Given the description of an element on the screen output the (x, y) to click on. 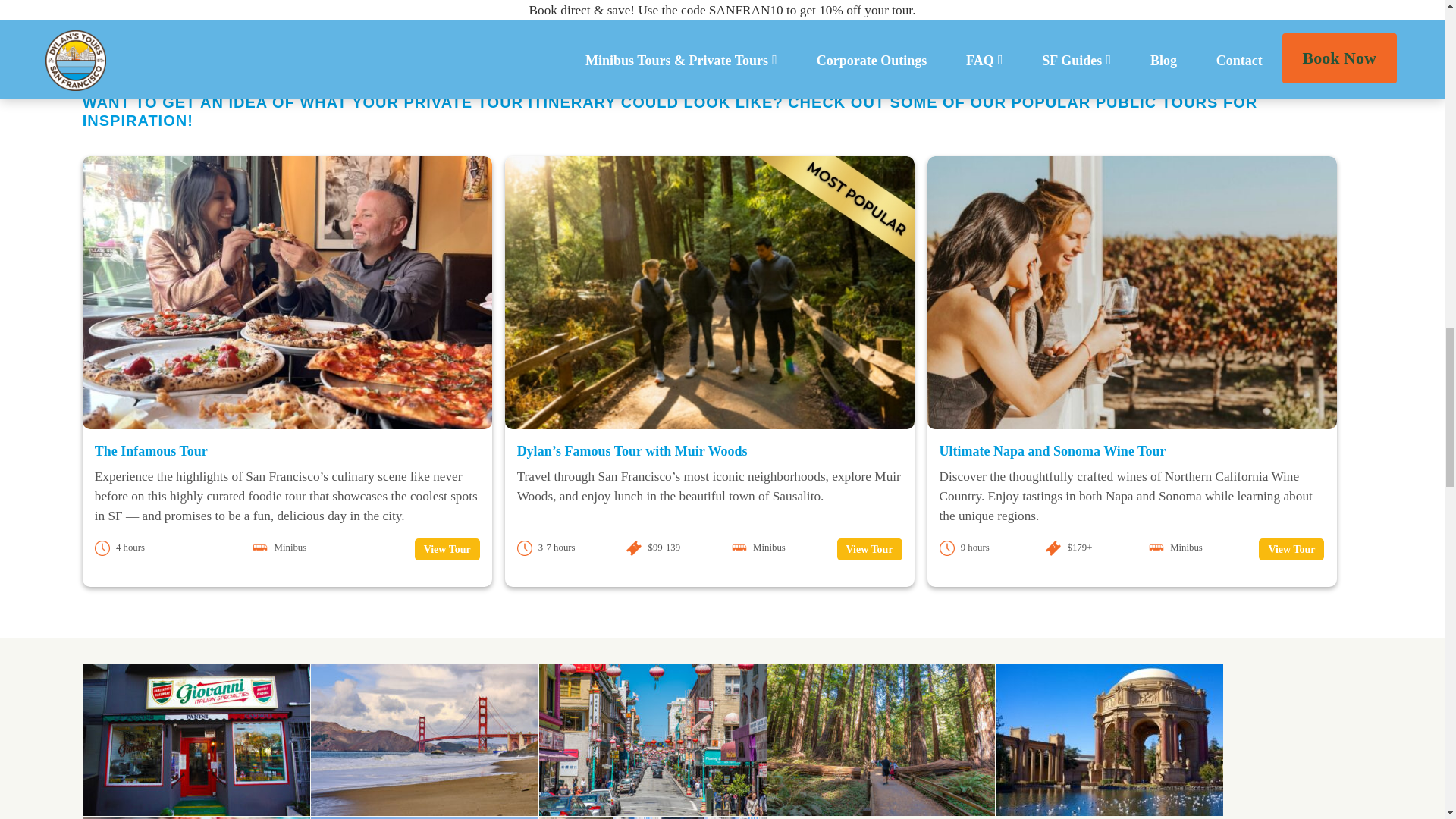
Golden Gate Bridge Bike Tours Sightseeing (424, 739)
Muir Woods private tour (880, 739)
Chinatown San Francisco Tour (652, 739)
Presidio-Hikes-1024x682 (1109, 739)
